Given the description of an element on the screen output the (x, y) to click on. 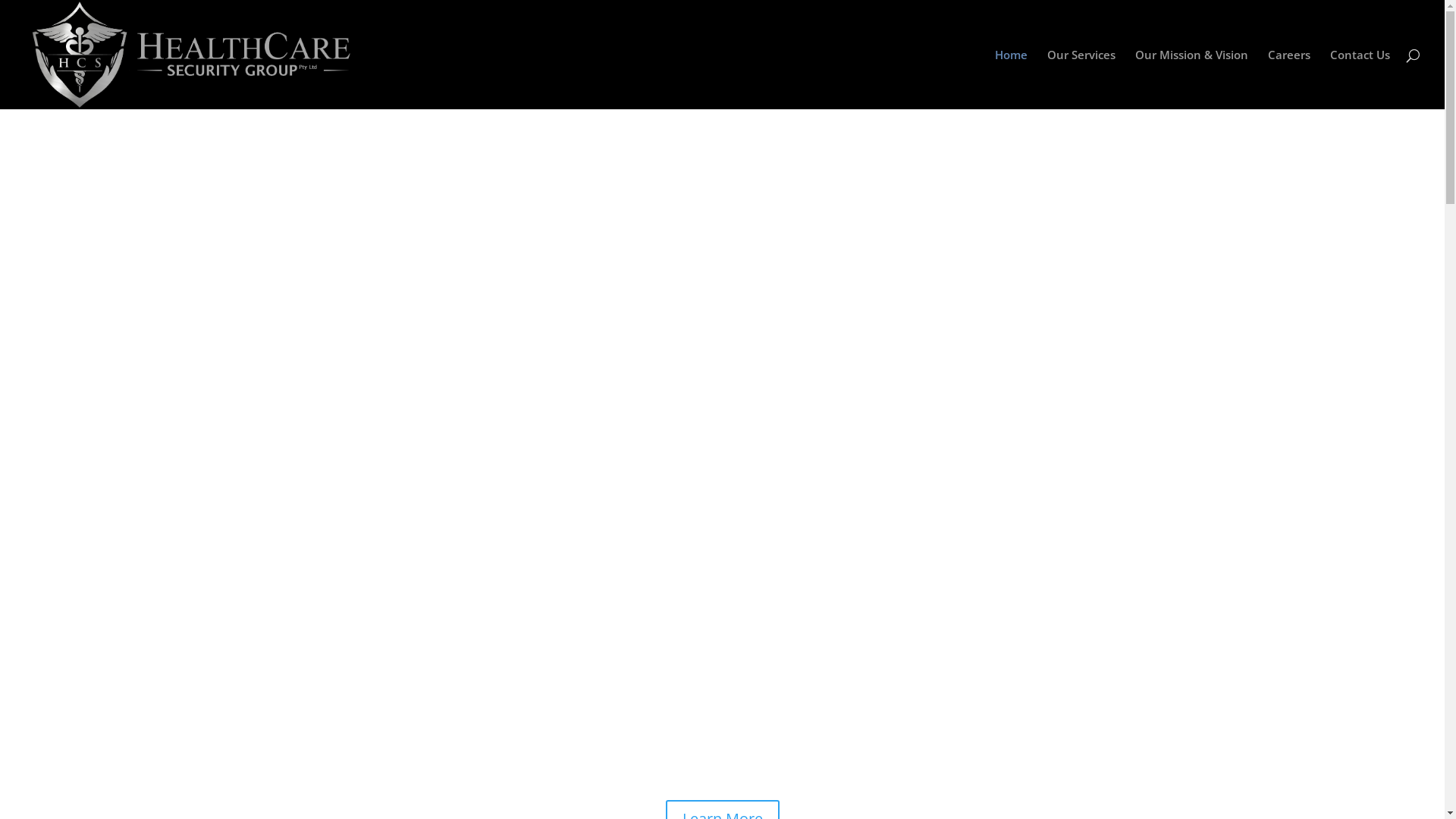
Contact Us Element type: text (1360, 79)
Home Element type: text (1010, 79)
Our Services Element type: text (1081, 79)
Careers Element type: text (1288, 79)
Our Mission & Vision Element type: text (1191, 79)
security-guard-guarding-2 Element type: hover (722, 326)
